Given the description of an element on the screen output the (x, y) to click on. 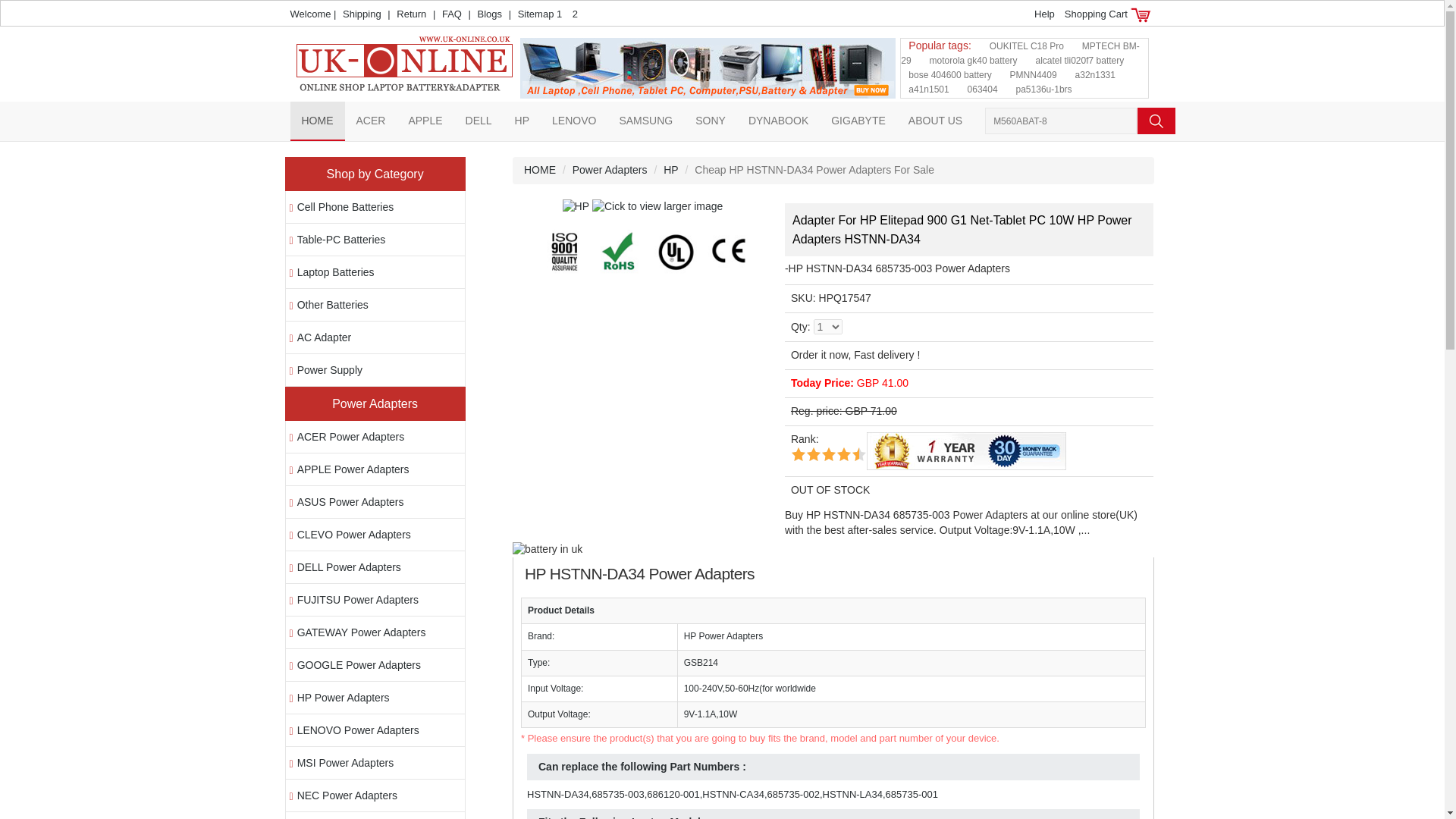
a32n1331 (1095, 74)
Table-PC Batteries (341, 239)
Shipping (362, 13)
bose 404600 battery (949, 74)
Other Batteries (332, 304)
Blogs (490, 13)
HP Elitepad 900 g1 Net-tablet PC 10W (642, 205)
Return (411, 13)
GIGABYTE (857, 120)
a41n1501 (928, 89)
DYNABOOK (777, 120)
APPLE Power Adapters (353, 469)
ABOUT US (935, 120)
pa5136u-1brs (1043, 89)
AC Adapter (324, 337)
